Given the description of an element on the screen output the (x, y) to click on. 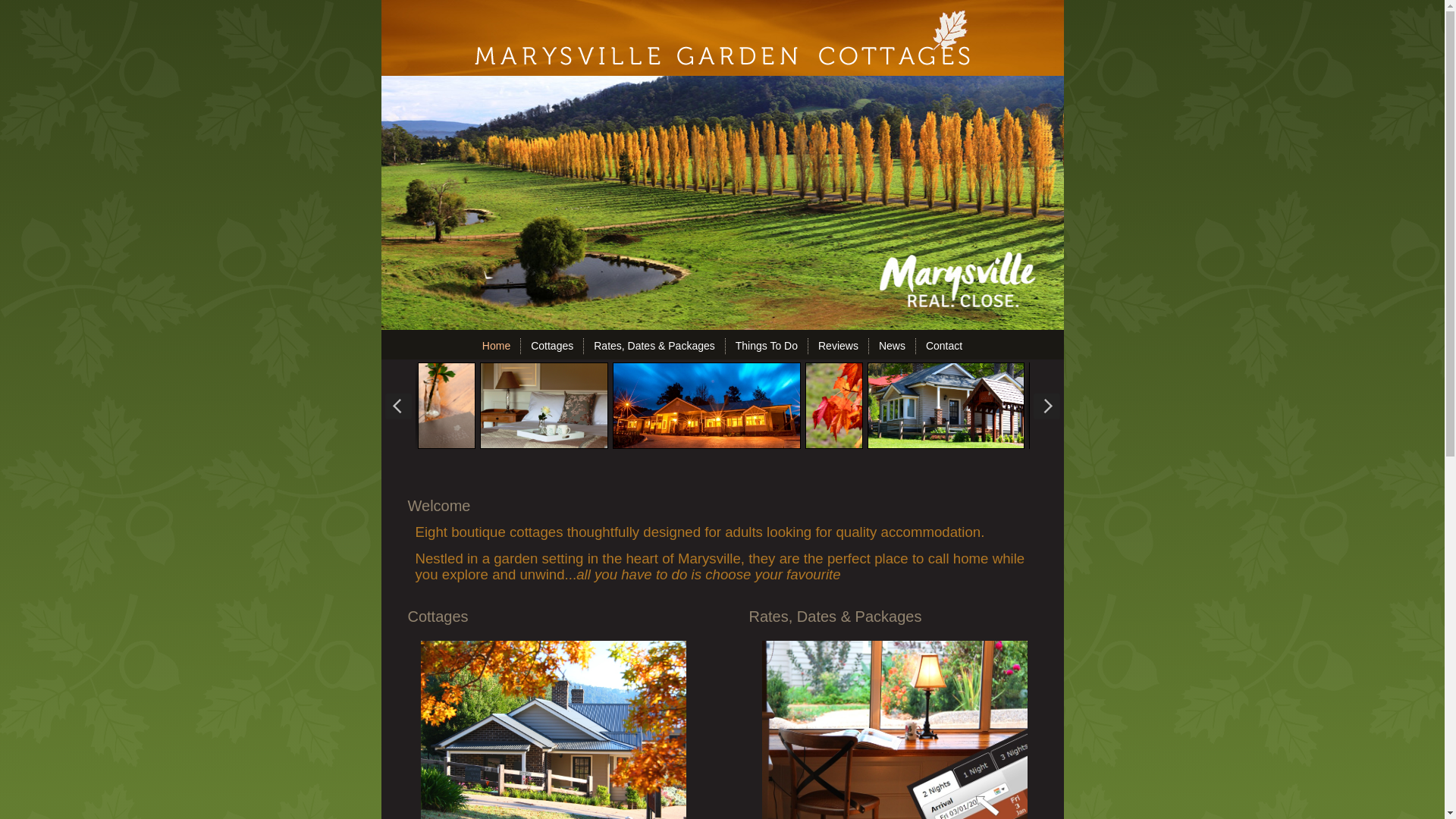
Things To Do Element type: text (766, 345)
Home Element type: text (496, 345)
News Element type: text (891, 345)
Reviews Element type: text (838, 345)
Contact Element type: text (943, 345)
Cottages Element type: text (551, 345)
Rates, Dates & Packages Element type: text (654, 345)
